Given the description of an element on the screen output the (x, y) to click on. 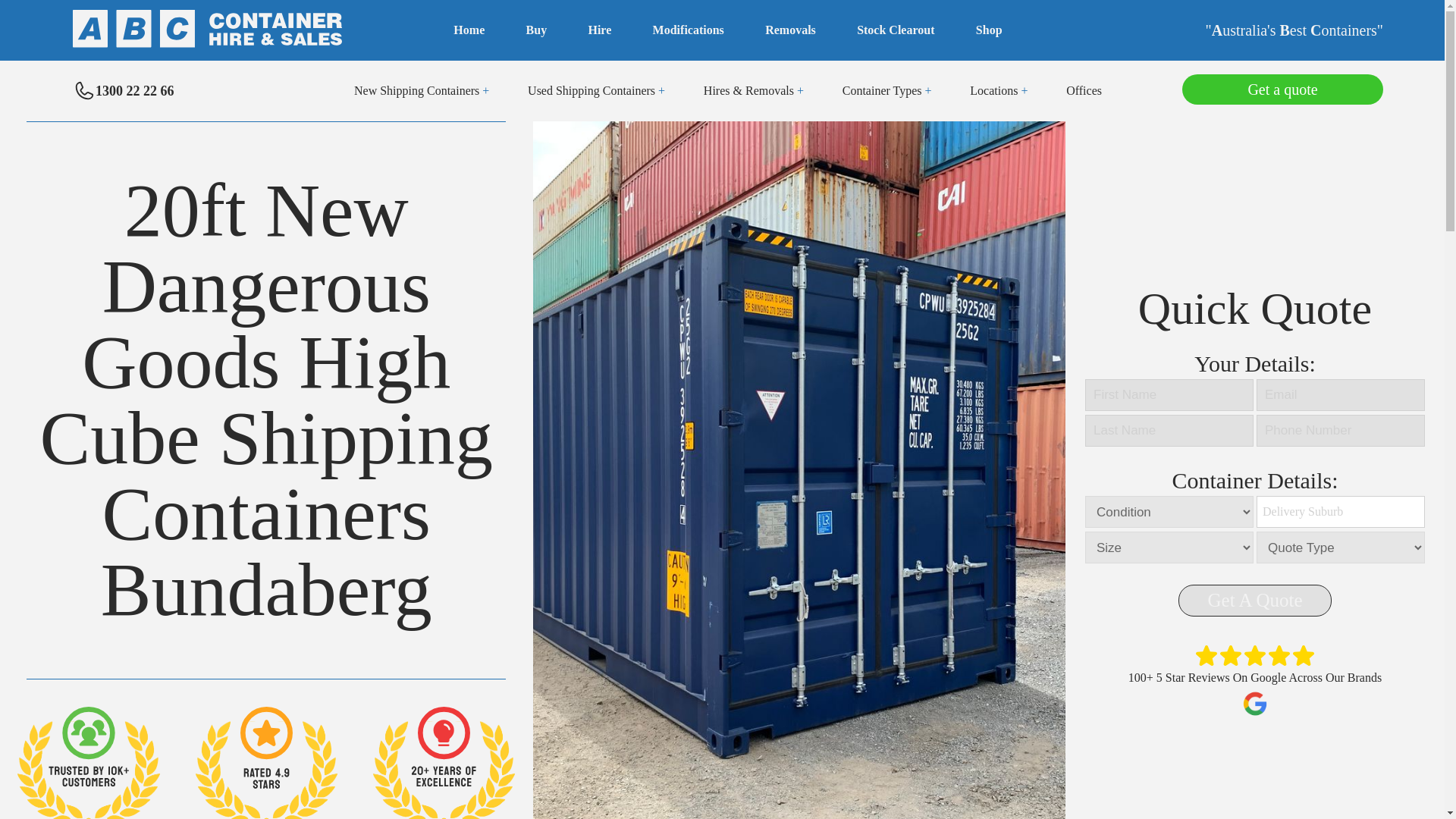
Modifications (687, 29)
Get A Quote (1254, 600)
Removals (790, 29)
Buy (536, 29)
Shop (989, 29)
Stock Clearout (895, 29)
Get A Quote (1254, 600)
Hire (599, 29)
Get a quote (1280, 85)
Home (468, 29)
1300 22 22 66 (123, 90)
Offices (1083, 90)
